Given the description of an element on the screen output the (x, y) to click on. 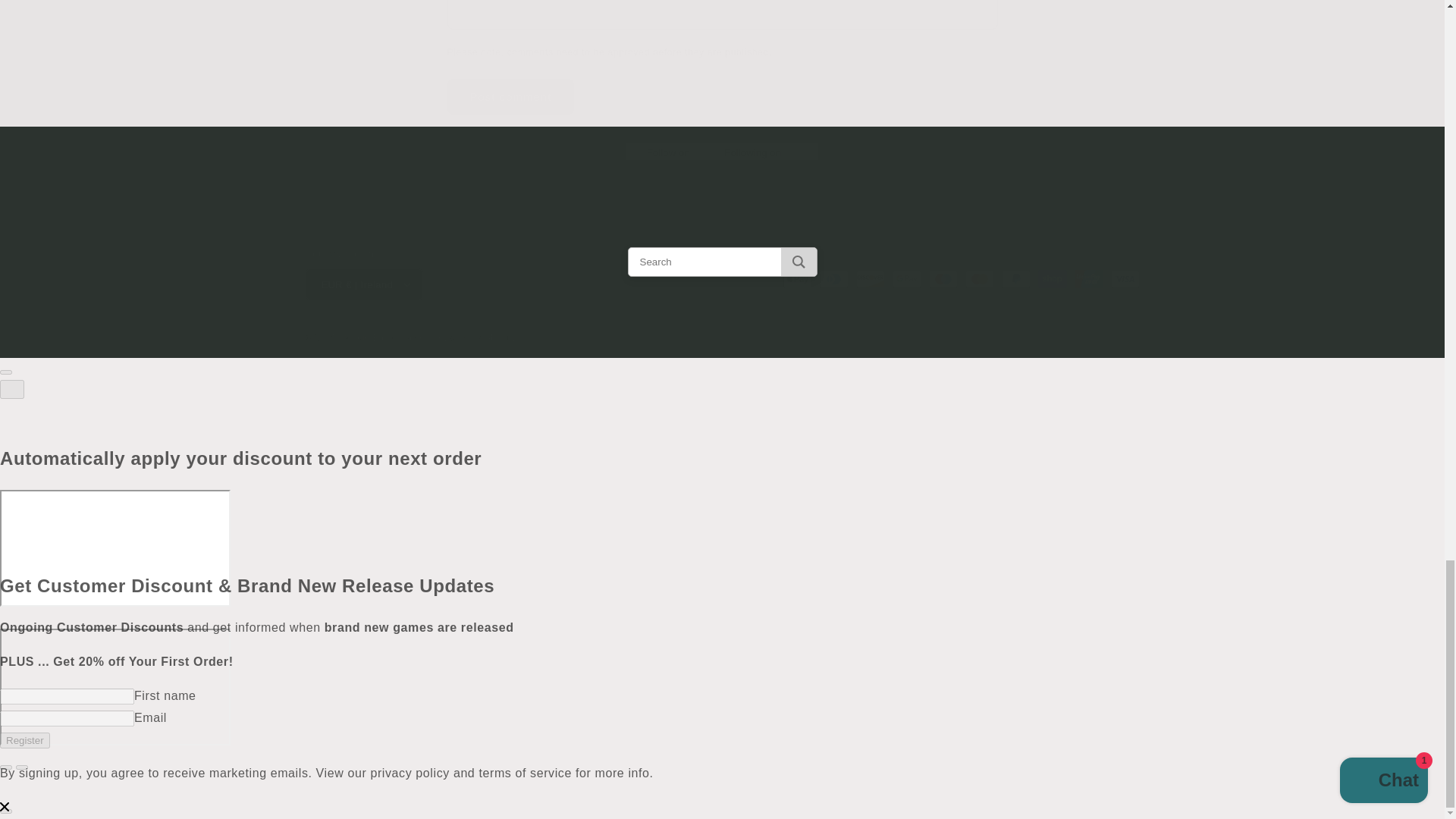
Post comment (510, 96)
